Given the description of an element on the screen output the (x, y) to click on. 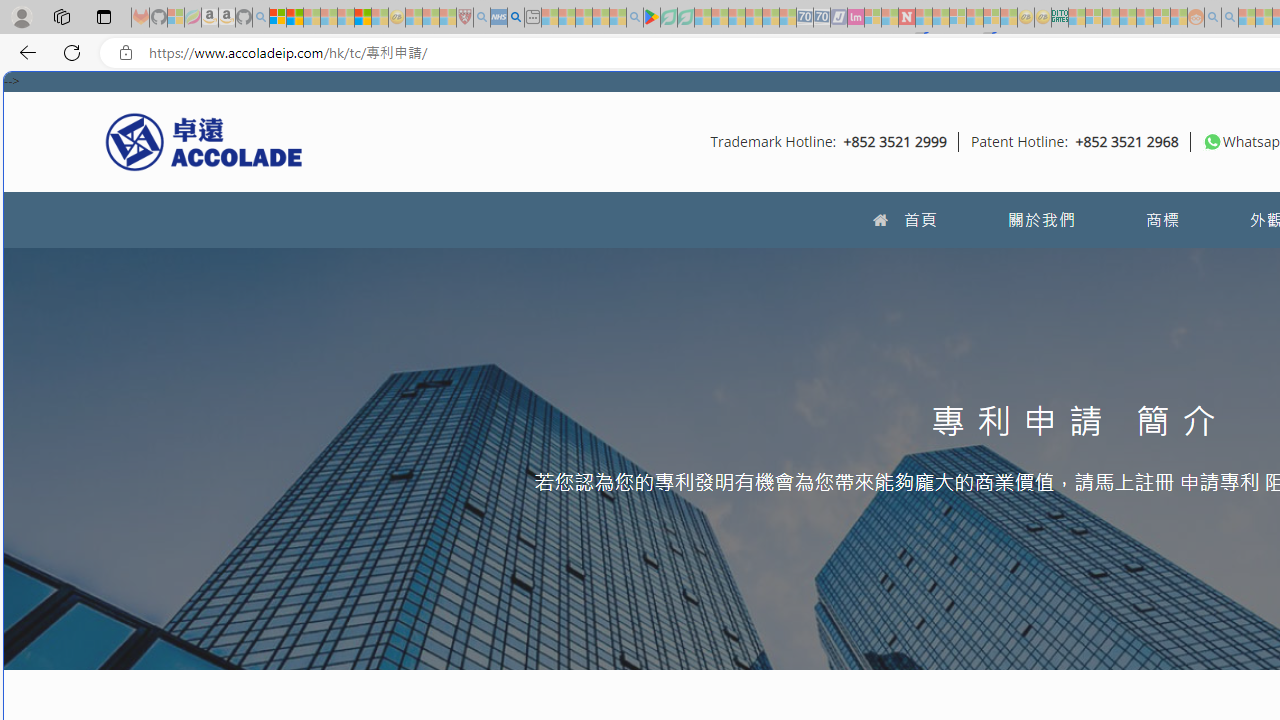
Local - MSN - Sleeping (447, 17)
Accolade IP HK Logo (203, 141)
Expert Portfolios - Sleeping (1128, 17)
Kinda Frugal - MSN - Sleeping (1144, 17)
